Given the description of an element on the screen output the (x, y) to click on. 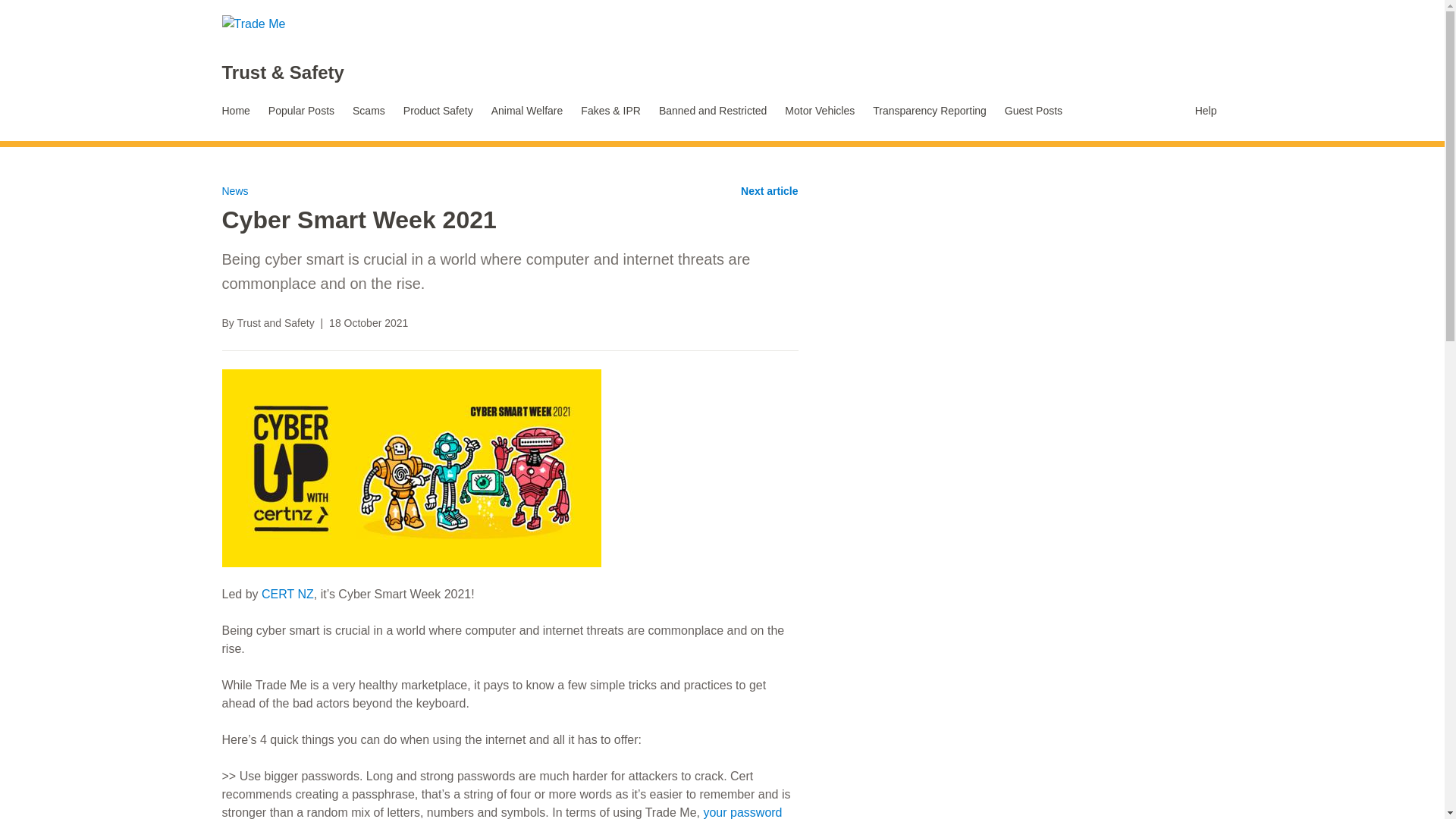
your password should be wholly unique (501, 812)
Product Safety (438, 110)
CERT NZ (288, 594)
Motor Vehicles (819, 110)
Banned and Restricted (712, 110)
Animal Welfare (526, 110)
Help (1208, 110)
Scams (368, 110)
Guest Posts (1033, 110)
Home (235, 110)
